Given the description of an element on the screen output the (x, y) to click on. 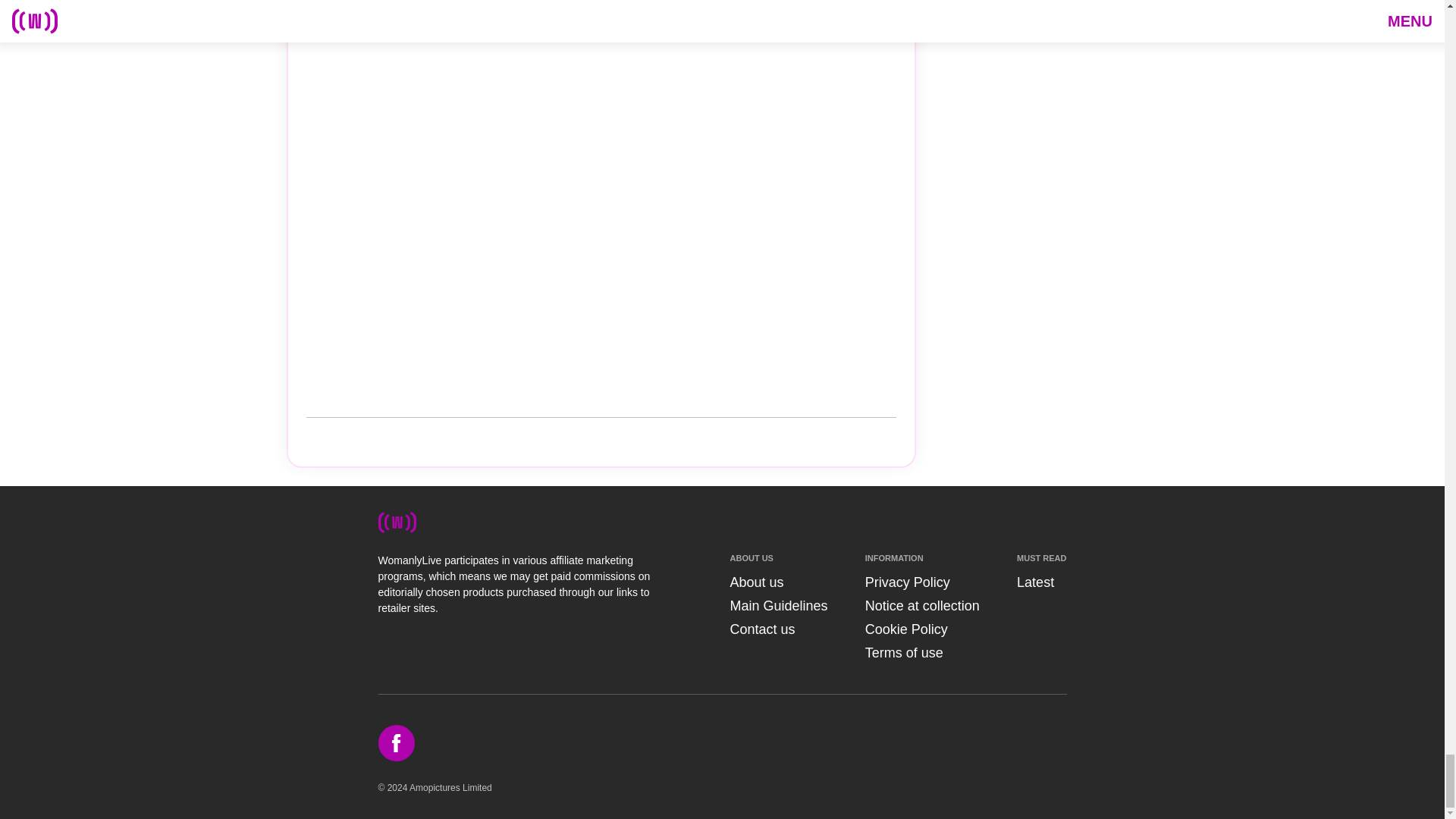
Latest (1035, 581)
Contact us (761, 629)
Main Guidelines (778, 605)
Terms of use (903, 652)
Privacy Policy (907, 581)
Cookie Policy (905, 629)
Notice at collection (921, 605)
About us (756, 581)
